Given the description of an element on the screen output the (x, y) to click on. 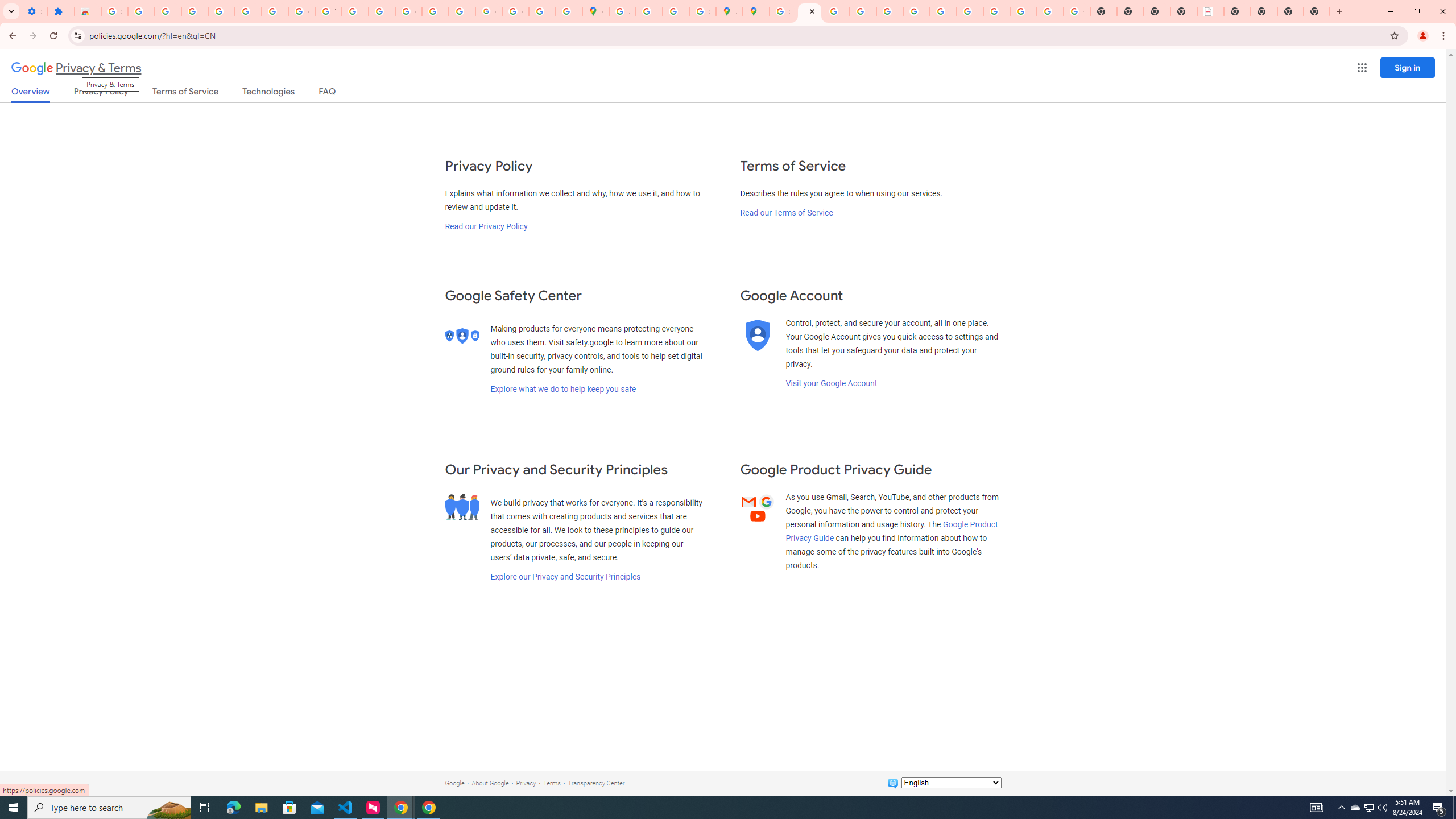
Sign in - Google Accounts (248, 11)
FAQ (327, 93)
Google Account (301, 11)
Terms of Service (184, 93)
https://scholar.google.com/ (382, 11)
Browse Chrome as a guest - Computer - Google Chrome Help (970, 11)
